Given the description of an element on the screen output the (x, y) to click on. 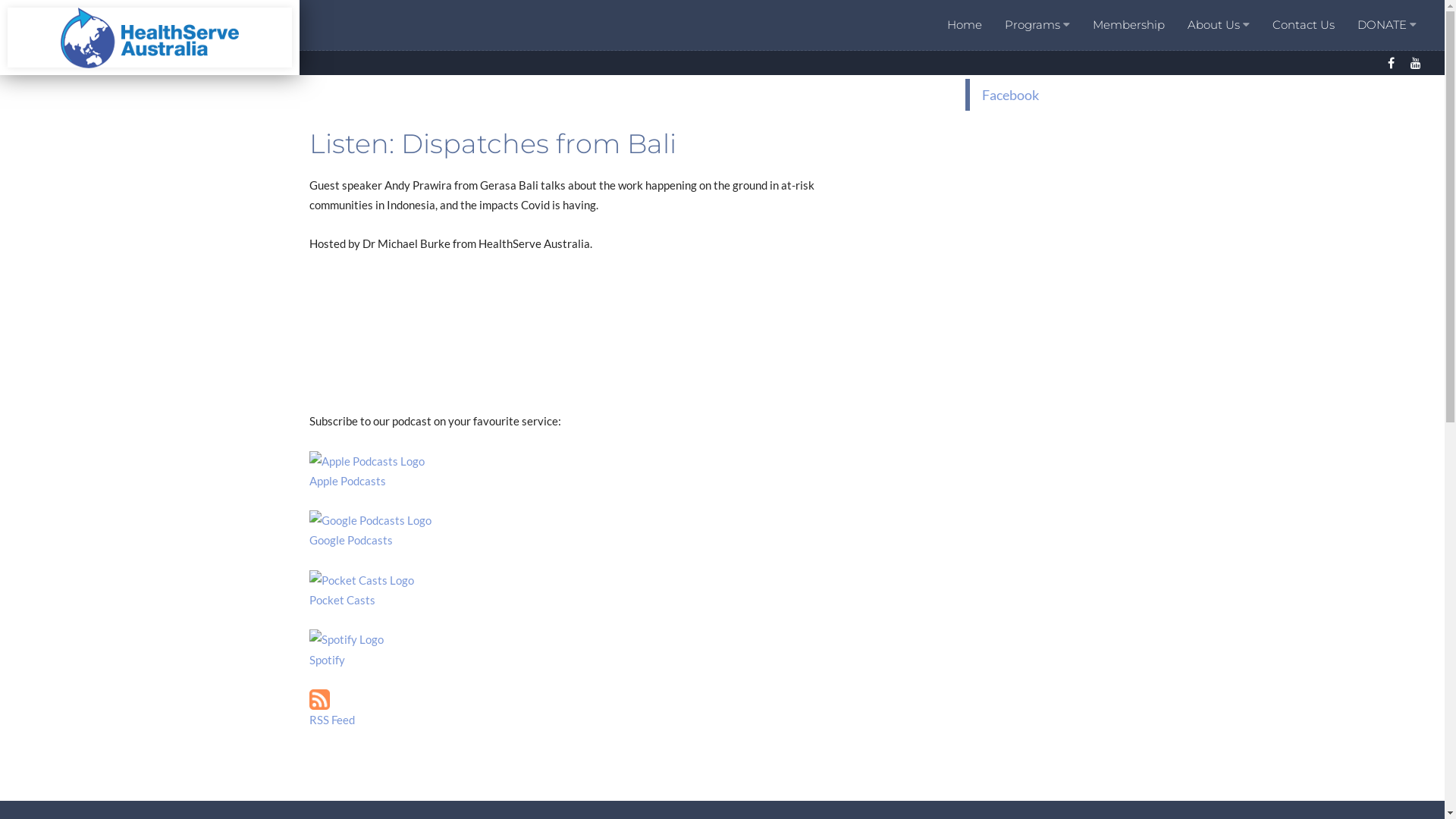
Facebook Element type: text (1009, 94)
Home Element type: text (963, 25)
Facebook Element type: text (1390, 62)
Apple Podcasts Element type: text (588, 469)
About Us Element type: text (1218, 25)
RSS Feed Element type: text (331, 719)
Spotify Element type: text (588, 648)
Programs Element type: text (1036, 25)
Pocket Casts Element type: text (588, 589)
DONATE Element type: text (1386, 25)
Contact Us Element type: text (1303, 25)
Youtube Element type: text (1414, 62)
Google Podcasts Element type: text (588, 529)
Membership Element type: text (1128, 25)
